Given the description of an element on the screen output the (x, y) to click on. 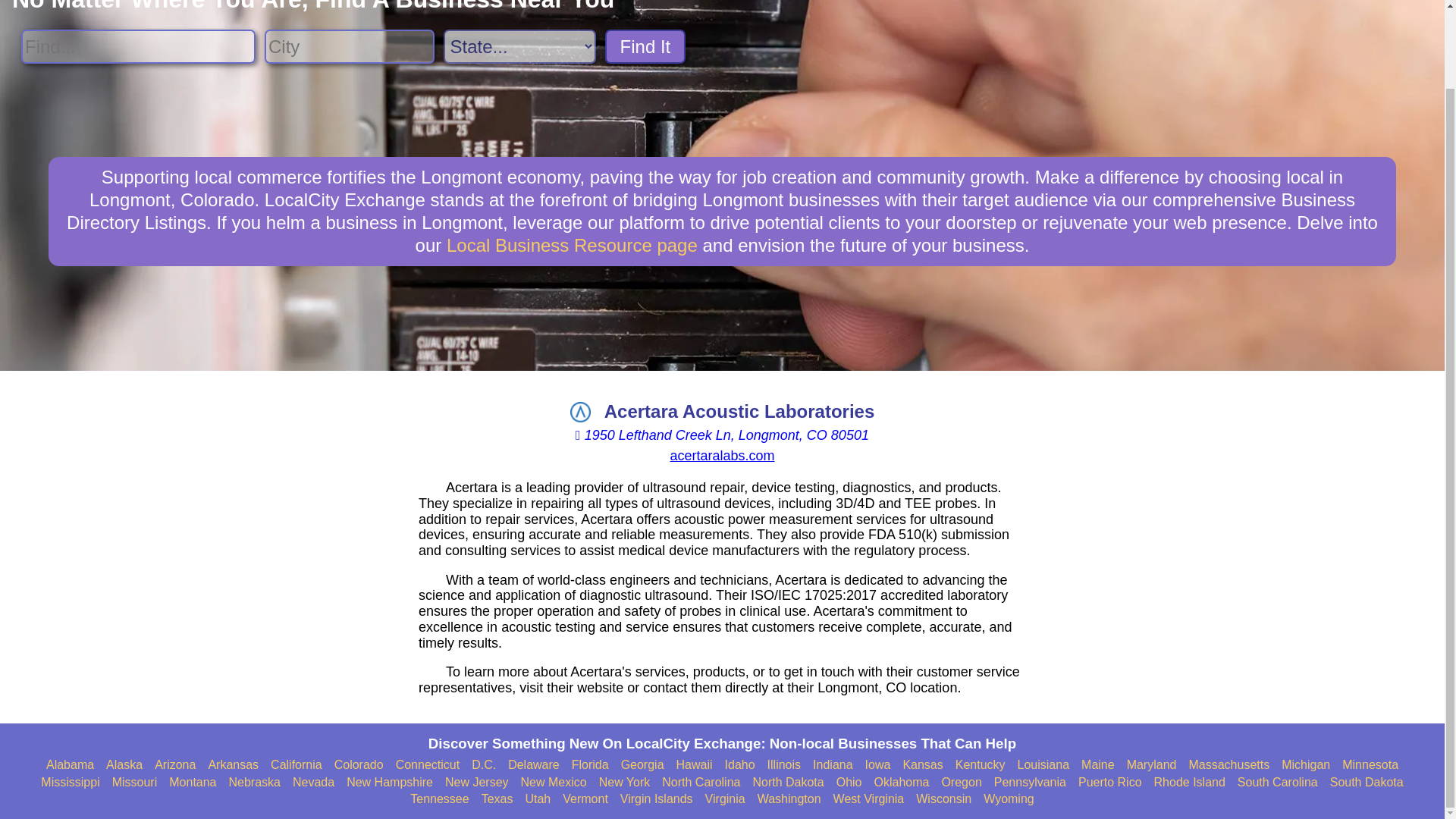
Arkansas (233, 765)
Nebraska (254, 782)
New Jersey (476, 782)
Find Businesses in Alaska (124, 765)
Local Business Resources (571, 245)
acertaralabs.com (721, 455)
Michigan (1305, 765)
Find Businesses in Alabama (70, 765)
Massachusetts (1228, 765)
Minnesota (1369, 765)
